Given the description of an element on the screen output the (x, y) to click on. 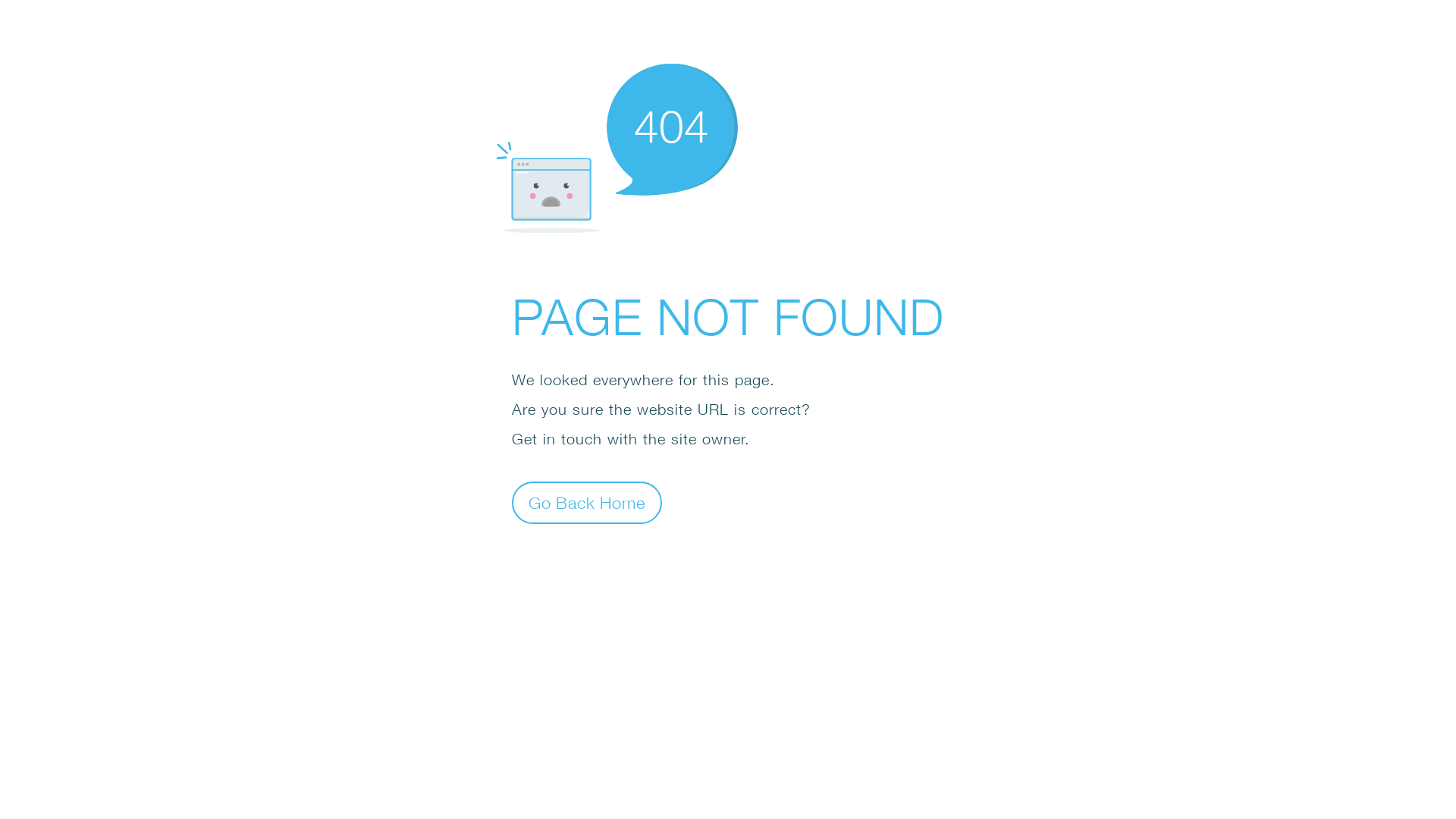
Go Back Home Element type: text (586, 502)
